Given the description of an element on the screen output the (x, y) to click on. 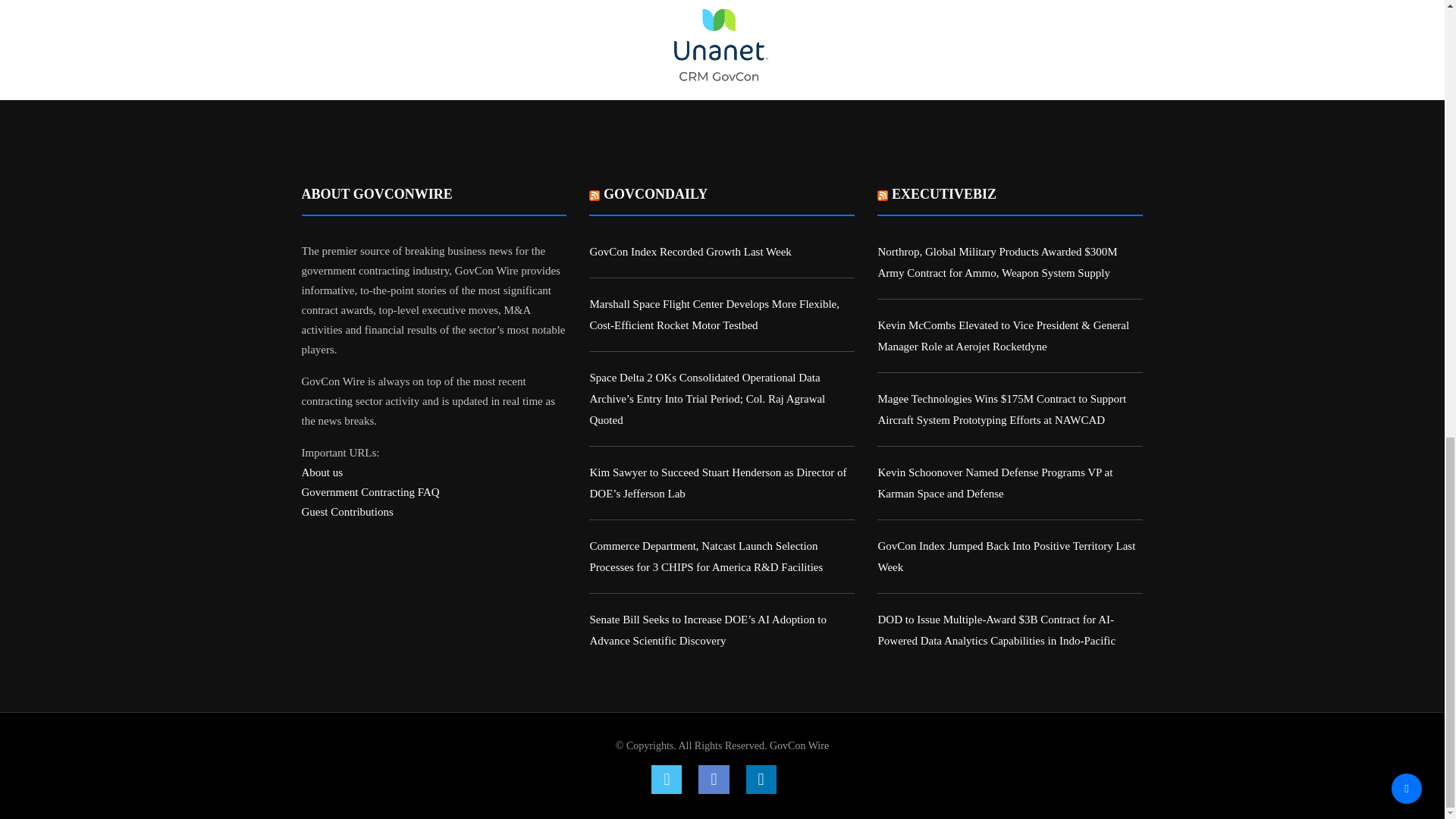
About us (322, 472)
Guest Contributions (347, 511)
EXECUTIVEBIZ (943, 193)
Government Contracting FAQ (370, 491)
GovCon Index Recorded Growth Last Week (689, 251)
GOVCONDAILY (655, 193)
